Given the description of an element on the screen output the (x, y) to click on. 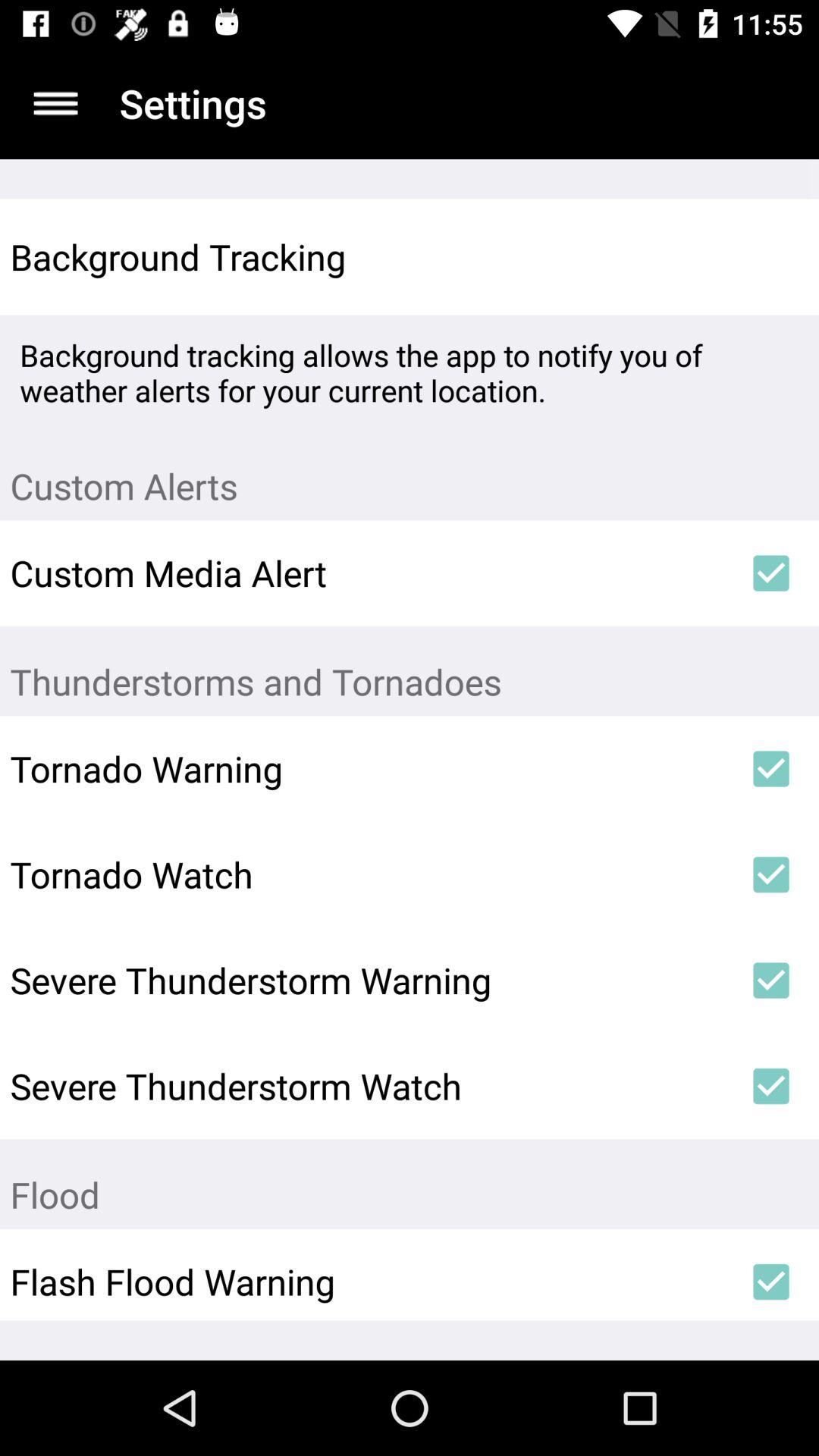
open settings (55, 103)
